Given the description of an element on the screen output the (x, y) to click on. 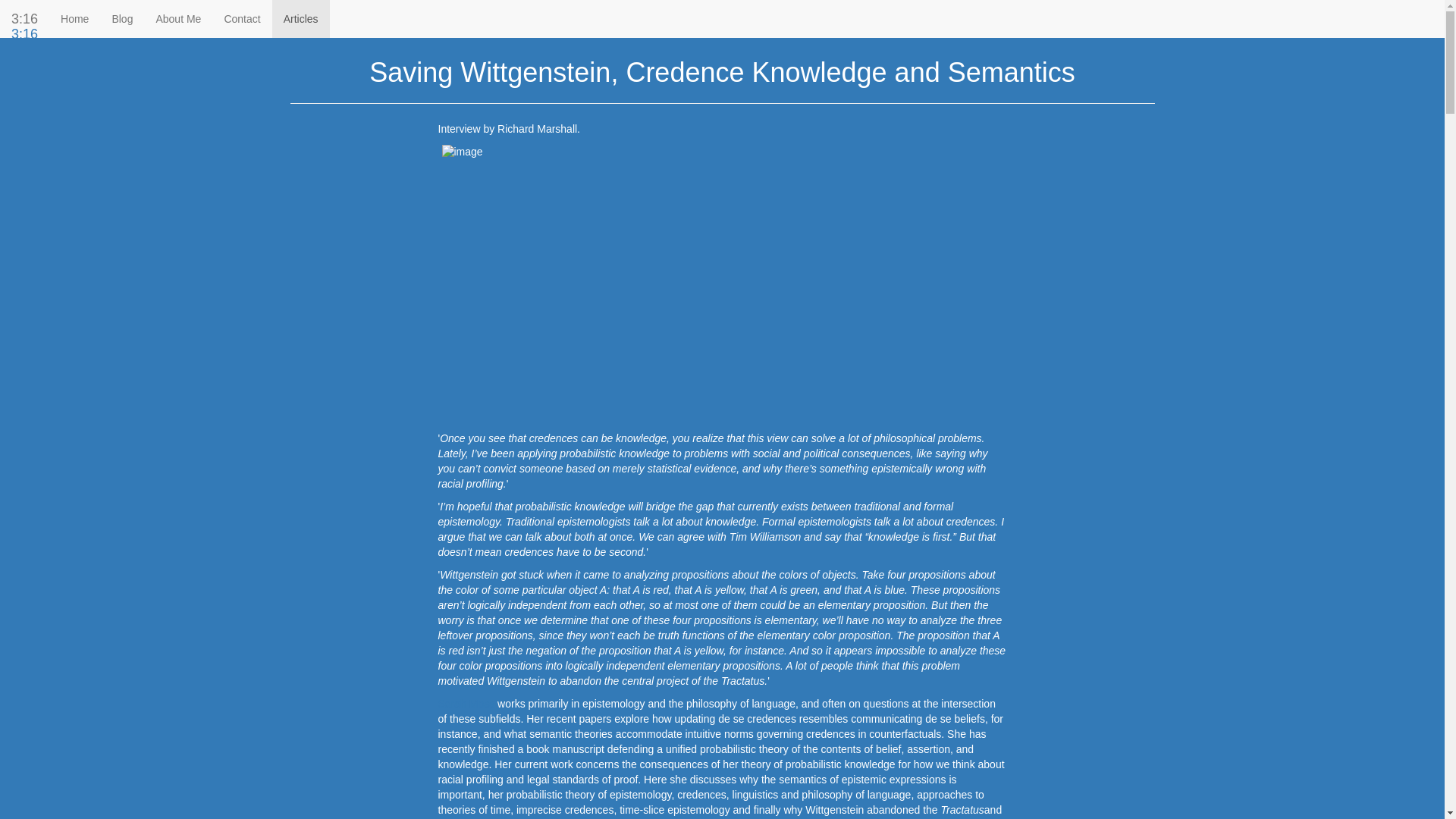
Articles (301, 18)
About Me (178, 18)
Home (303, 12)
3:16 (24, 34)
Articles (348, 12)
Sarah Moss (466, 703)
3:16 (24, 18)
Home (74, 18)
Contact (241, 18)
Blog (122, 18)
